Given the description of an element on the screen output the (x, y) to click on. 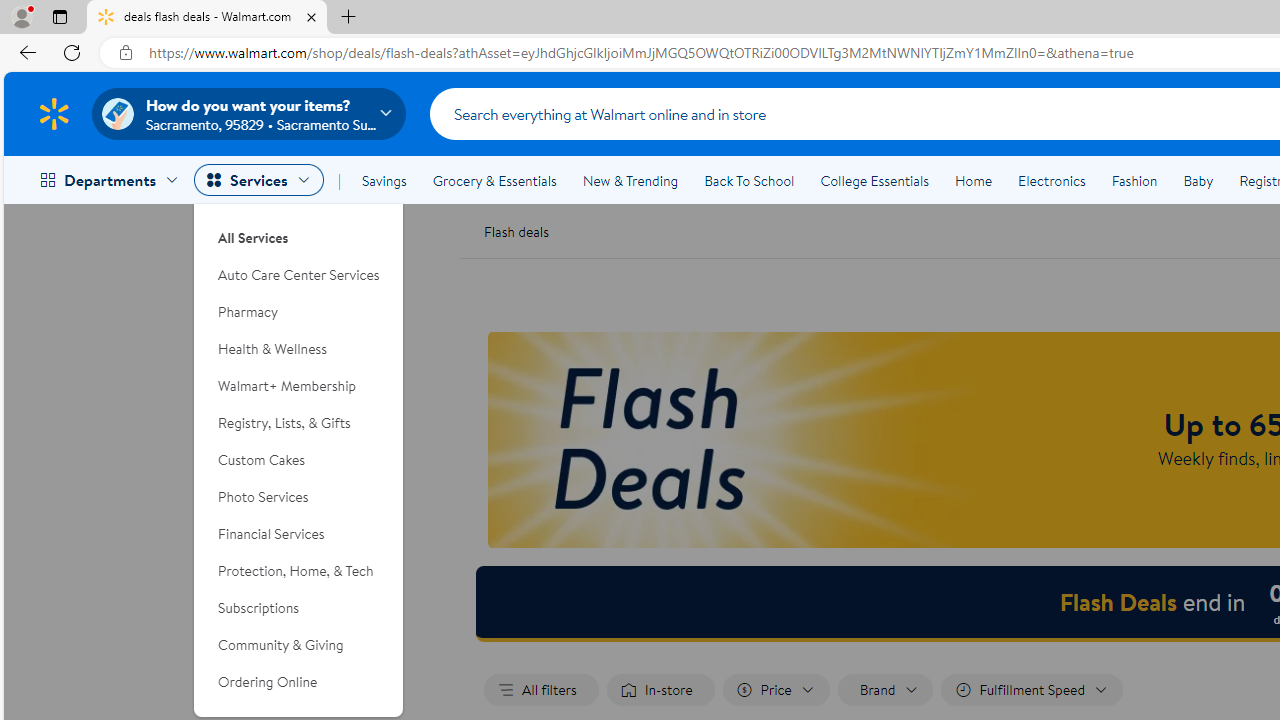
Health & Wellness (299, 349)
New & Trending (630, 180)
Custom Cakes (299, 460)
Filter by Brand not applied, activate to change (885, 690)
Protection, Home, & Tech (299, 570)
Community & Giving (299, 645)
Custom Cakes (299, 460)
Grocery & Essentials (493, 180)
Grocery & Essentials (493, 180)
Photo Services (299, 497)
Savings (384, 180)
Filter by Fulfillment Speed not applied, activate to change (1031, 690)
Photo Services (299, 497)
